Given the description of an element on the screen output the (x, y) to click on. 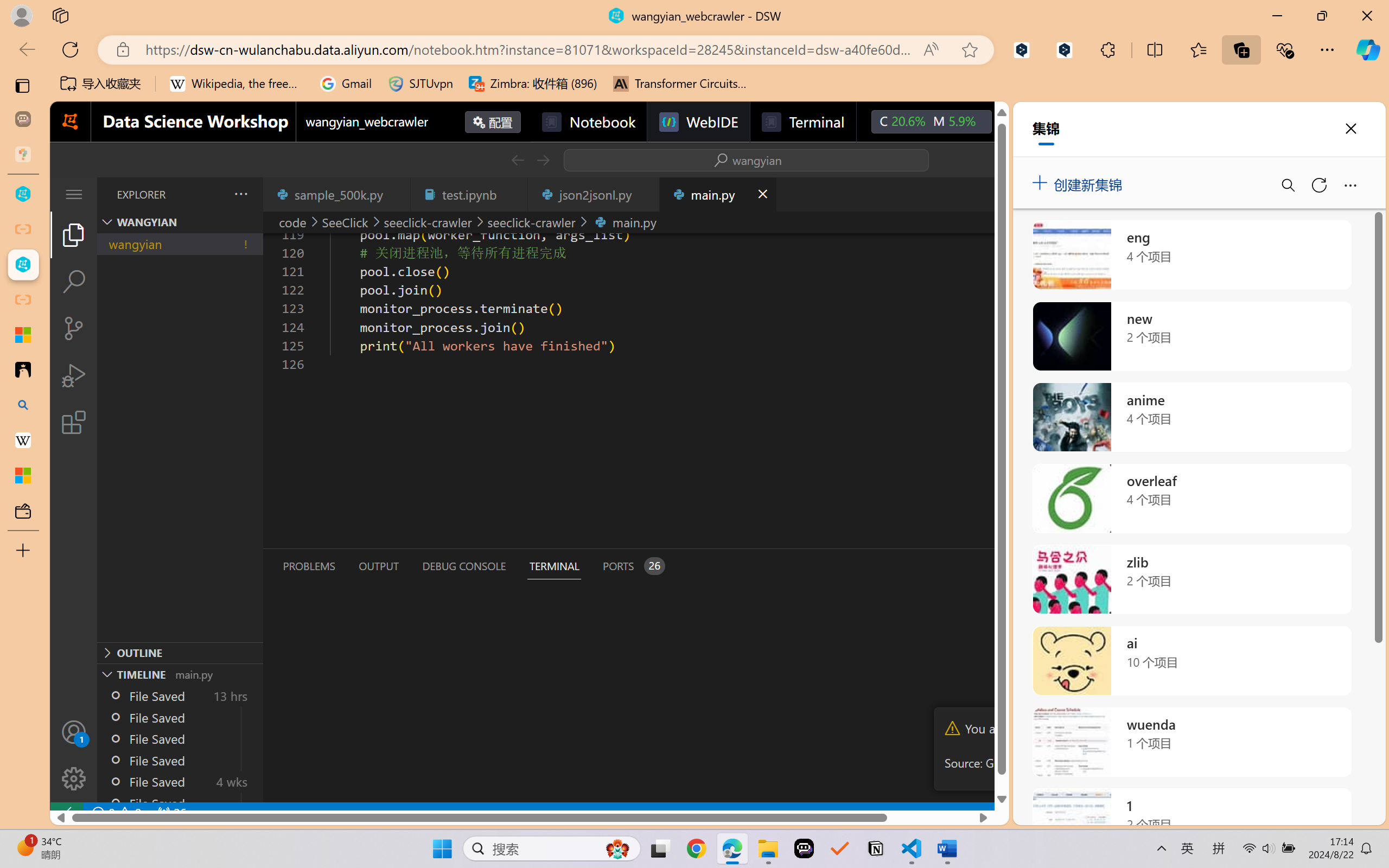
Search (Ctrl+Shift+F) (73, 281)
Class: next-menu next-hoz widgets--iconMenu--BFkiHRM (1015, 121)
test.ipynb (468, 194)
Manage (73, 778)
Close (Ctrl+F4) (761, 194)
Class: menubar compact overflow-menu-only (73, 194)
Explorer Section: wangyian (179, 221)
